Given the description of an element on the screen output the (x, y) to click on. 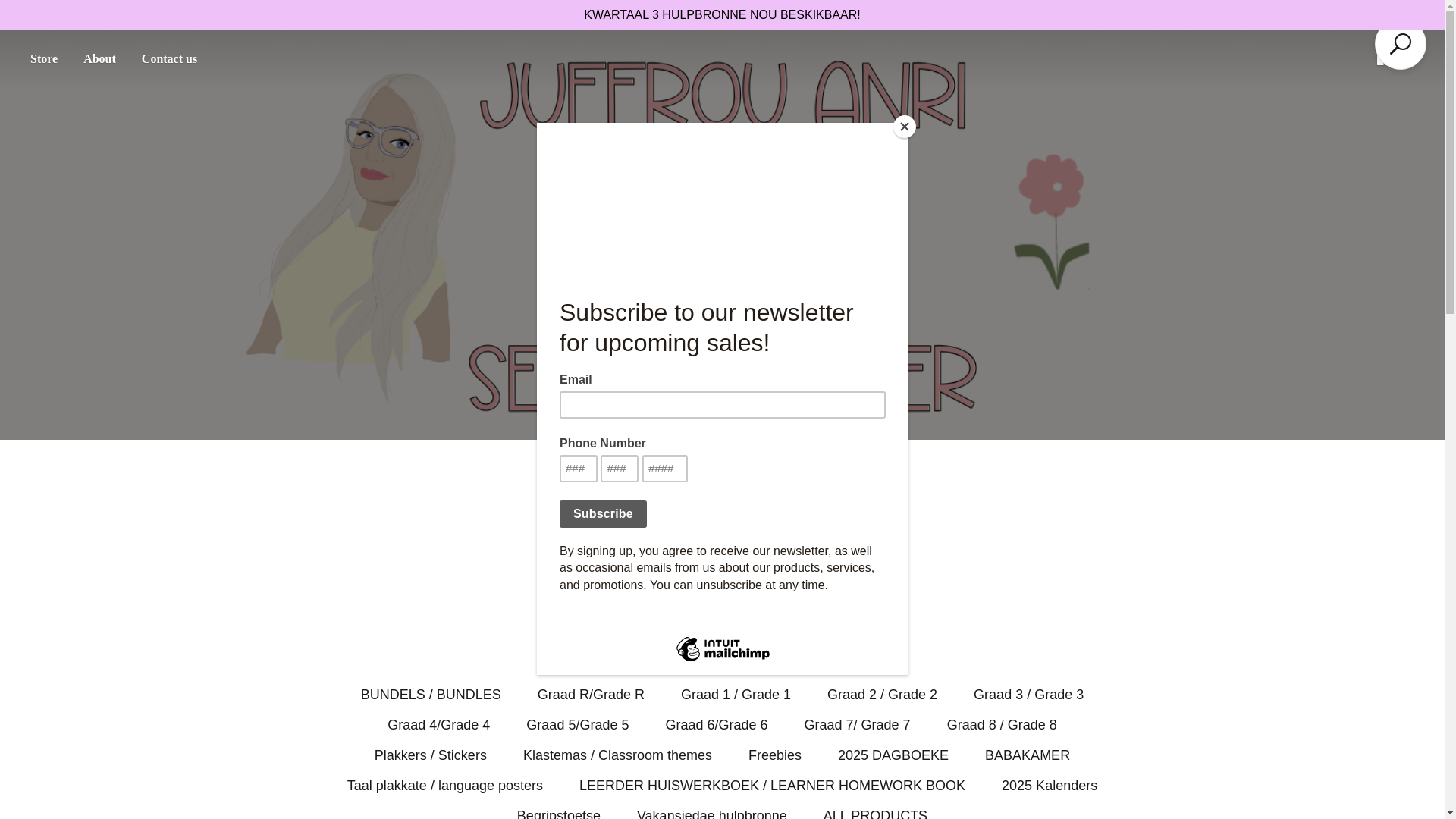
Store (43, 59)
Contact us (169, 59)
About (99, 59)
